Given the description of an element on the screen output the (x, y) to click on. 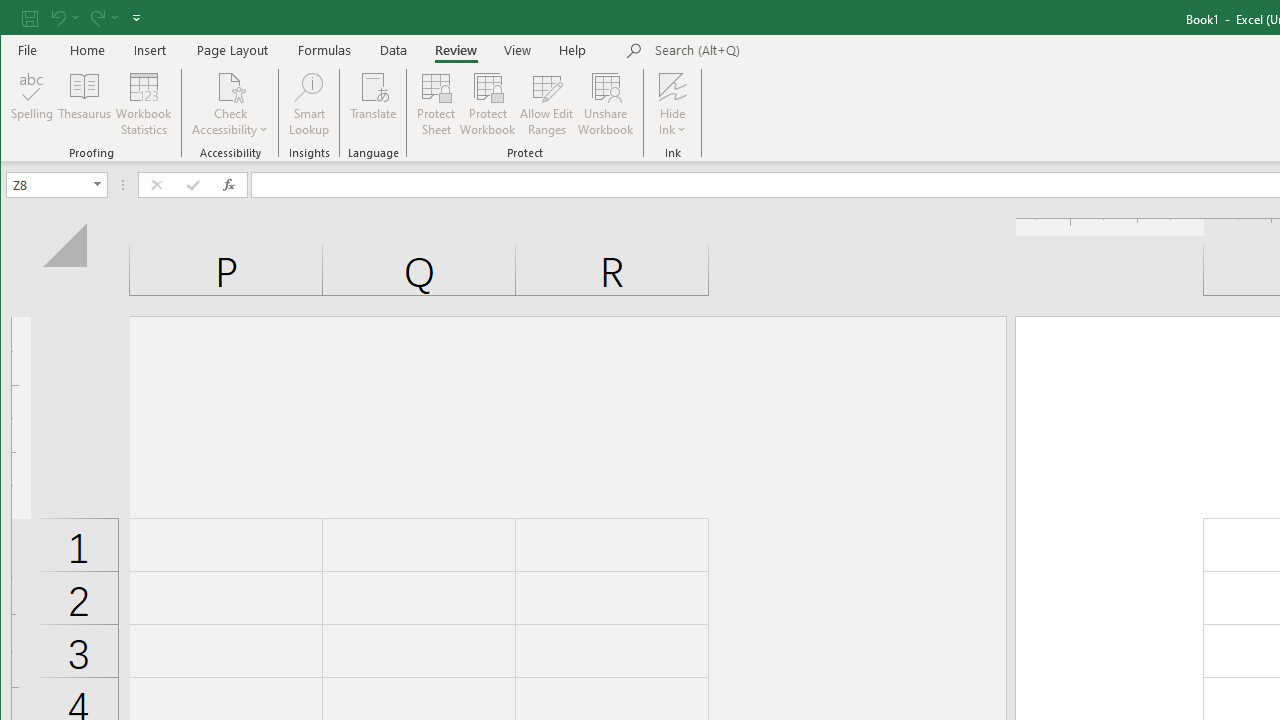
Spelling... (32, 104)
